Given the description of an element on the screen output the (x, y) to click on. 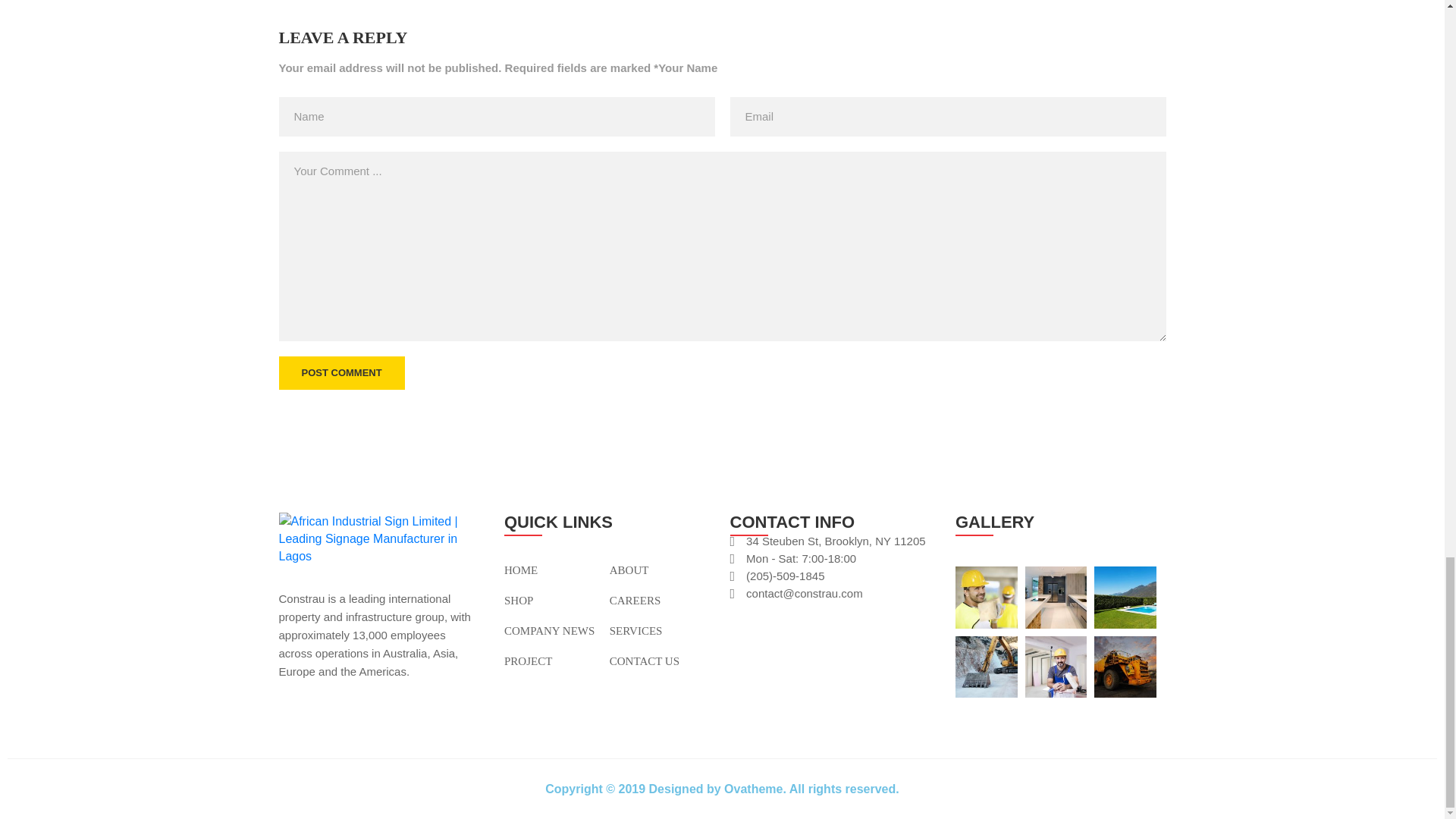
CAREERS (635, 600)
POST COMMENT (341, 372)
SHOP (517, 600)
SERVICES (636, 630)
ABOUT (629, 570)
PROJECT (527, 661)
COMPANY NEWS (548, 630)
HOME (520, 570)
POST COMMENT (341, 372)
